Given the description of an element on the screen output the (x, y) to click on. 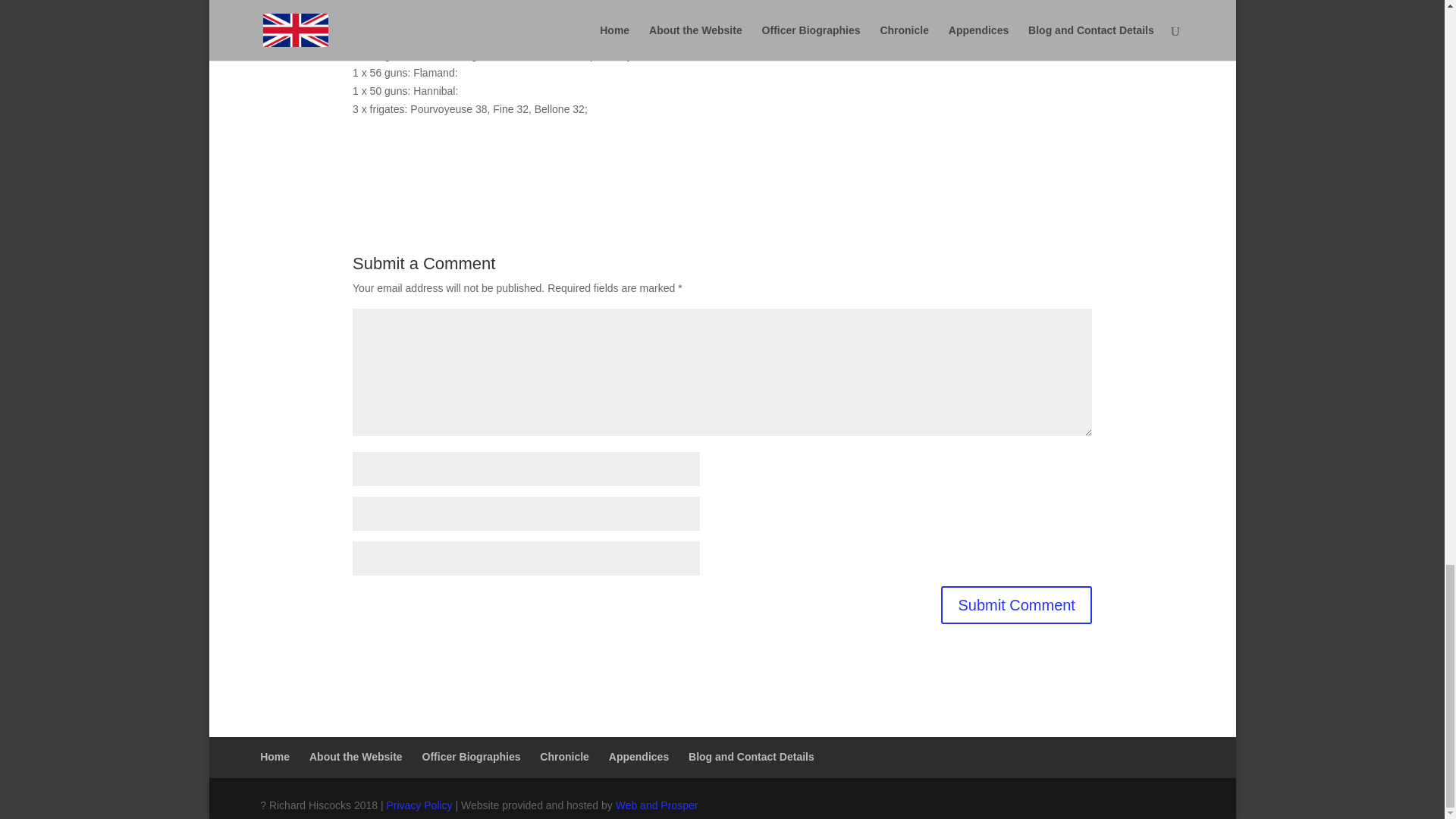
Home (274, 756)
Submit Comment (1016, 605)
Submit Comment (1016, 605)
About the Website (355, 756)
